Given the description of an element on the screen output the (x, y) to click on. 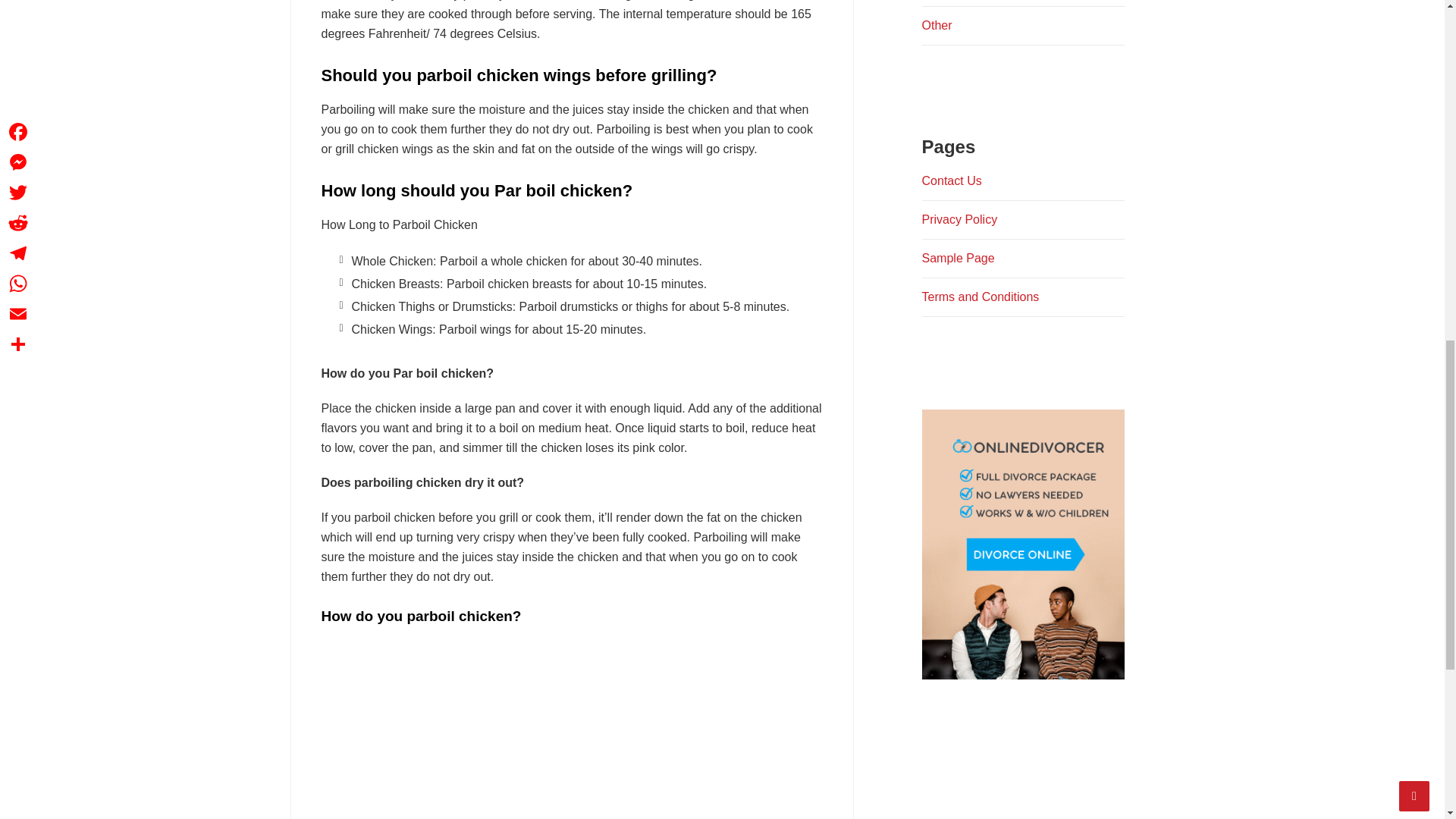
Terms and Conditions (980, 296)
Privacy Policy (959, 219)
Sample Page (957, 257)
Other (936, 24)
Contact Us (951, 180)
